Given the description of an element on the screen output the (x, y) to click on. 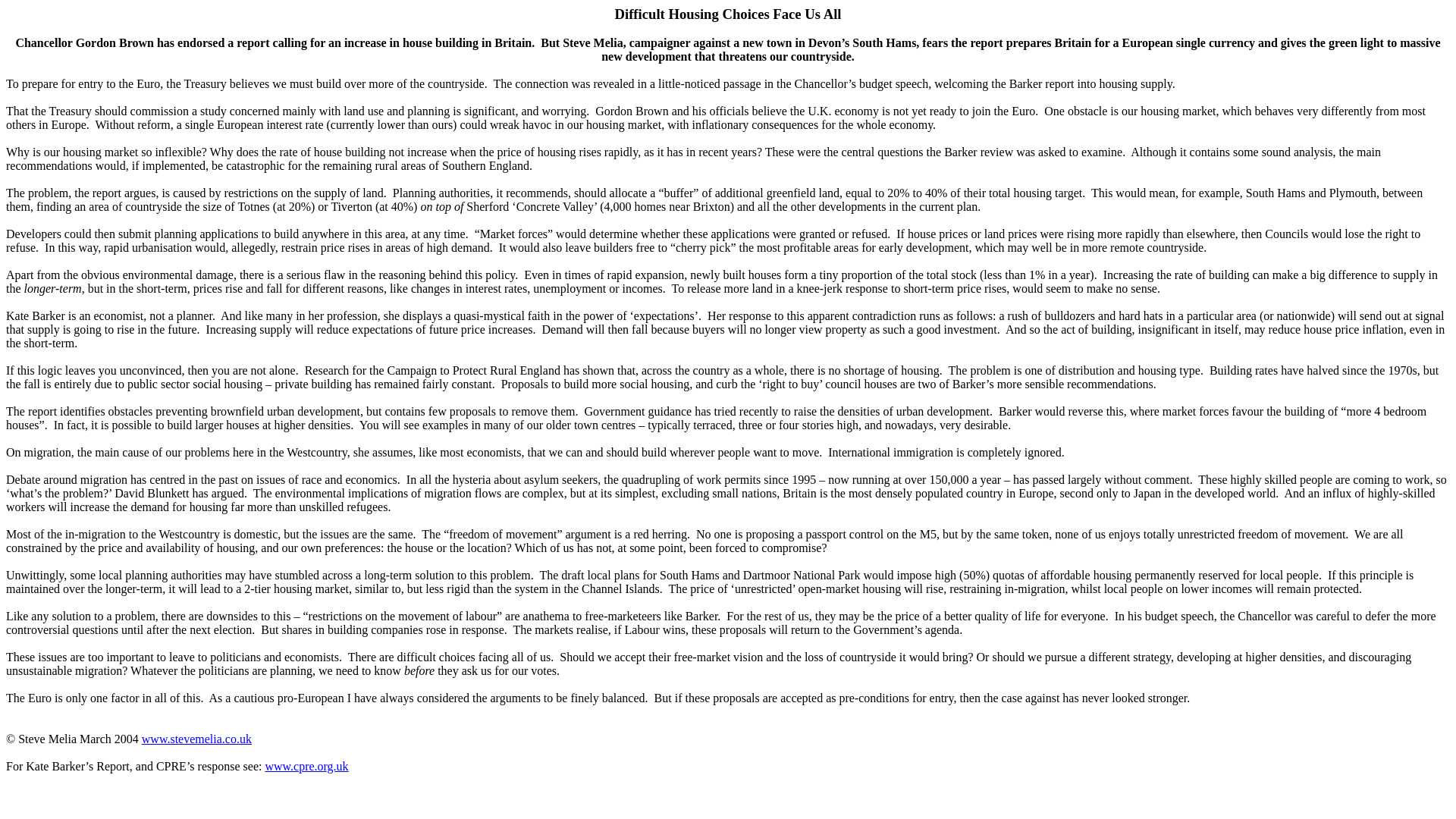
www.cpre.org.uk (305, 766)
www.stevemelia.co.uk (196, 738)
